Given the description of an element on the screen output the (x, y) to click on. 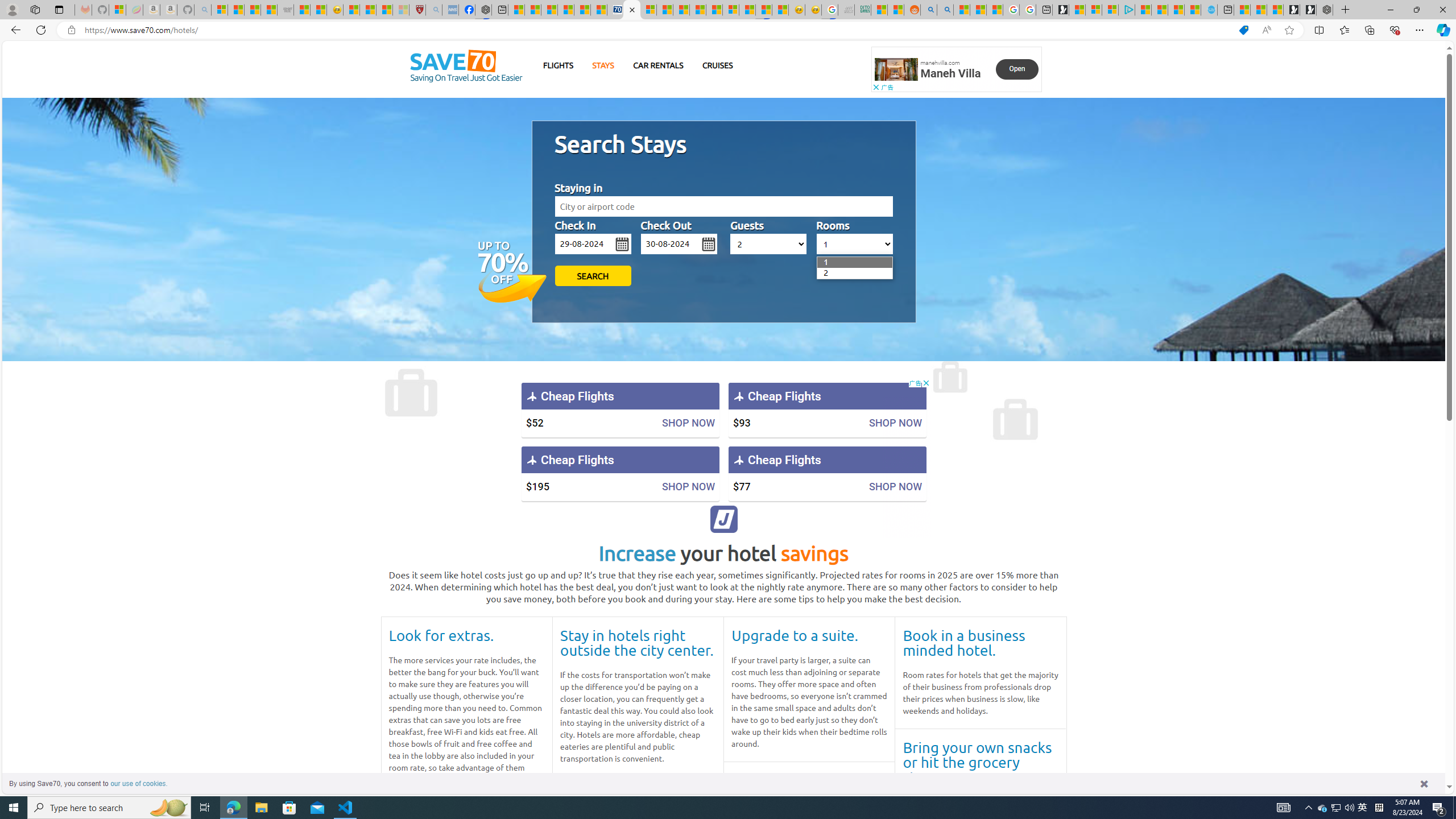
dismiss cookie message (1424, 783)
CAR RENTALS (657, 65)
AutomationID: hotels_passengers (768, 243)
1 (822, 262)
